Given the description of an element on the screen output the (x, y) to click on. 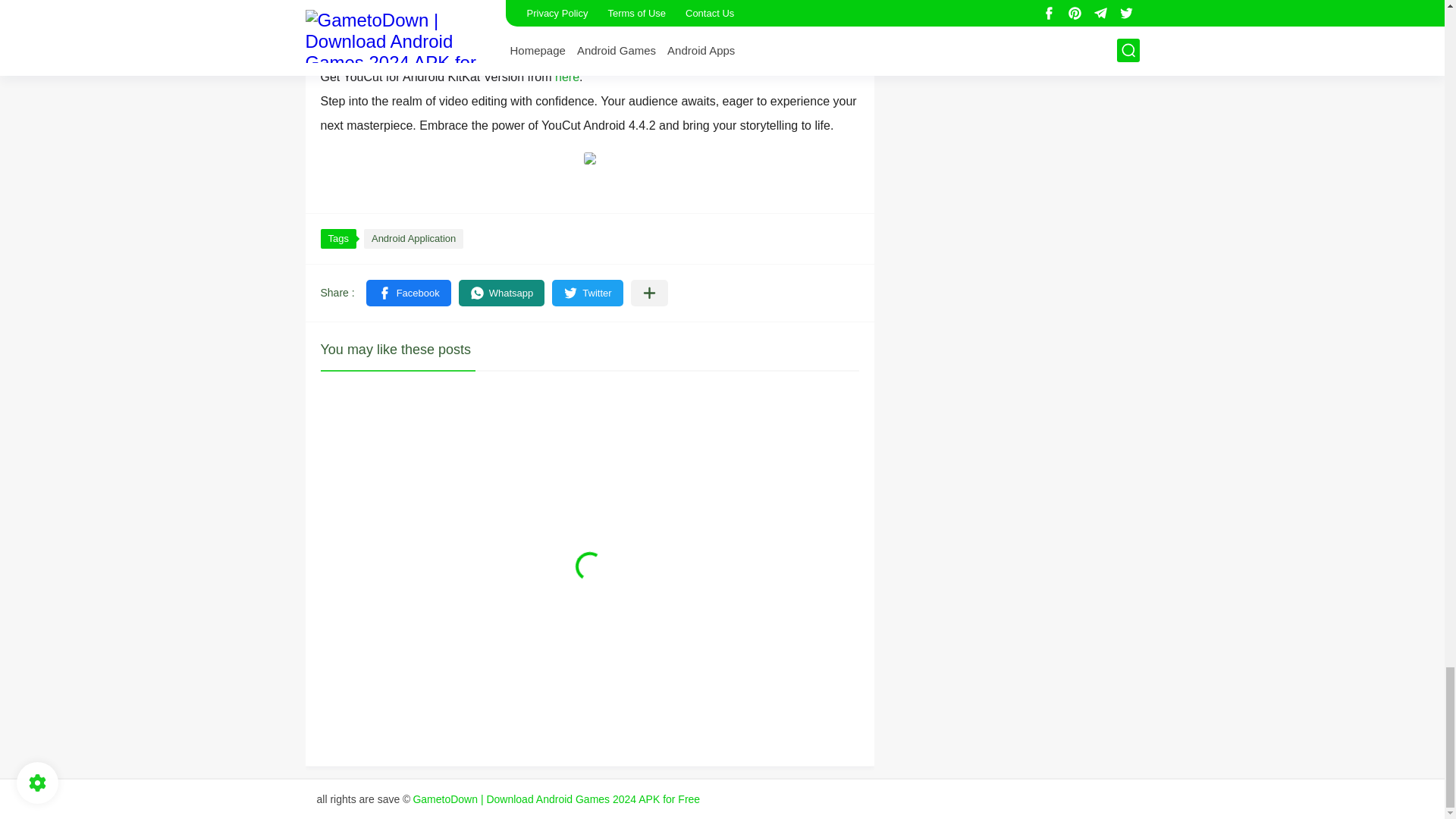
here (566, 76)
Android Application (413, 238)
